Given the description of an element on the screen output the (x, y) to click on. 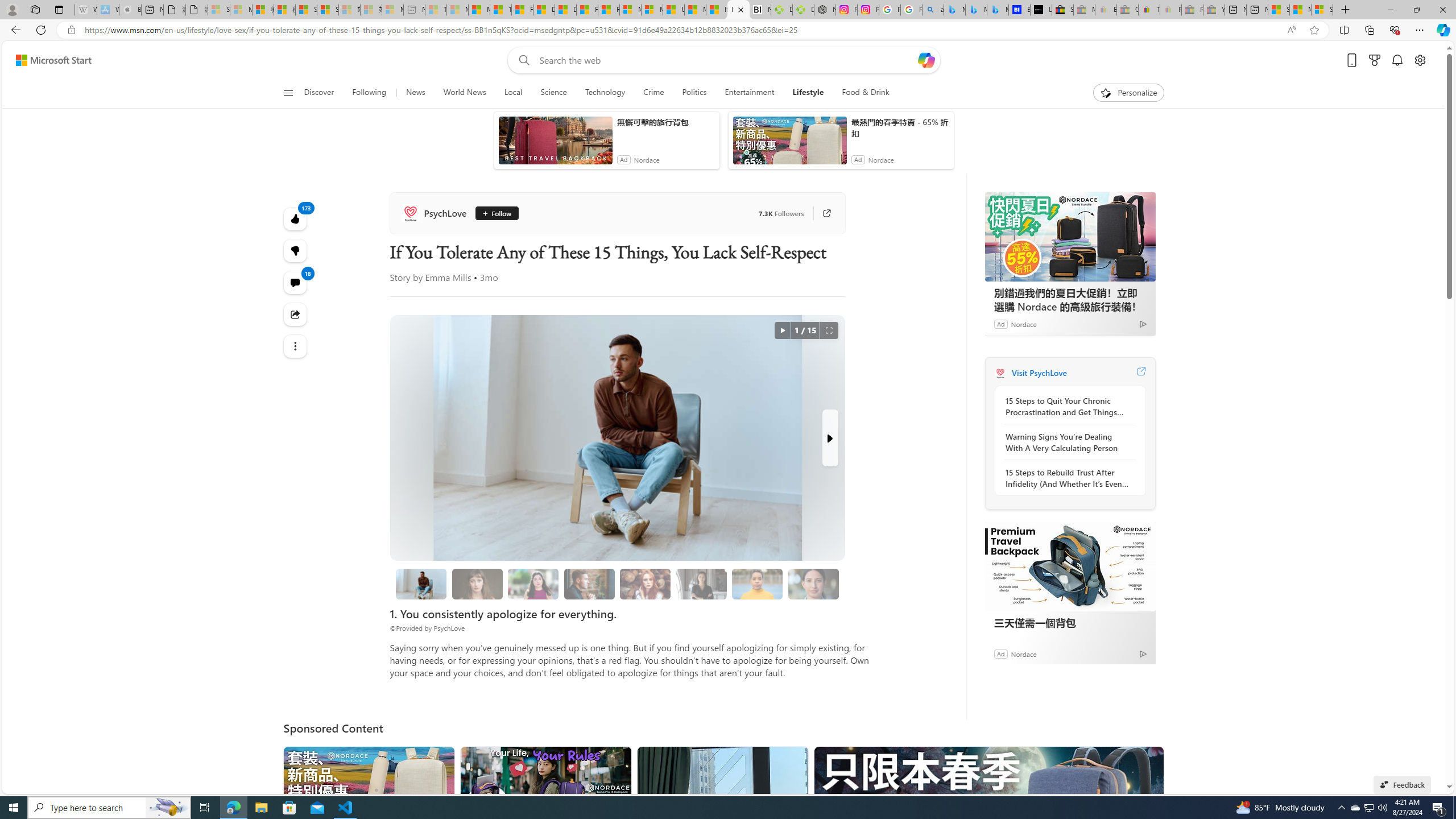
Press Room - eBay Inc. - Sleeping (1192, 9)
3. Put some thought into it. (421, 583)
PsychLove (1000, 372)
Food & Drink (860, 92)
Microsoft Services Agreement - Sleeping (241, 9)
Skip to content (49, 59)
